Given the description of an element on the screen output the (x, y) to click on. 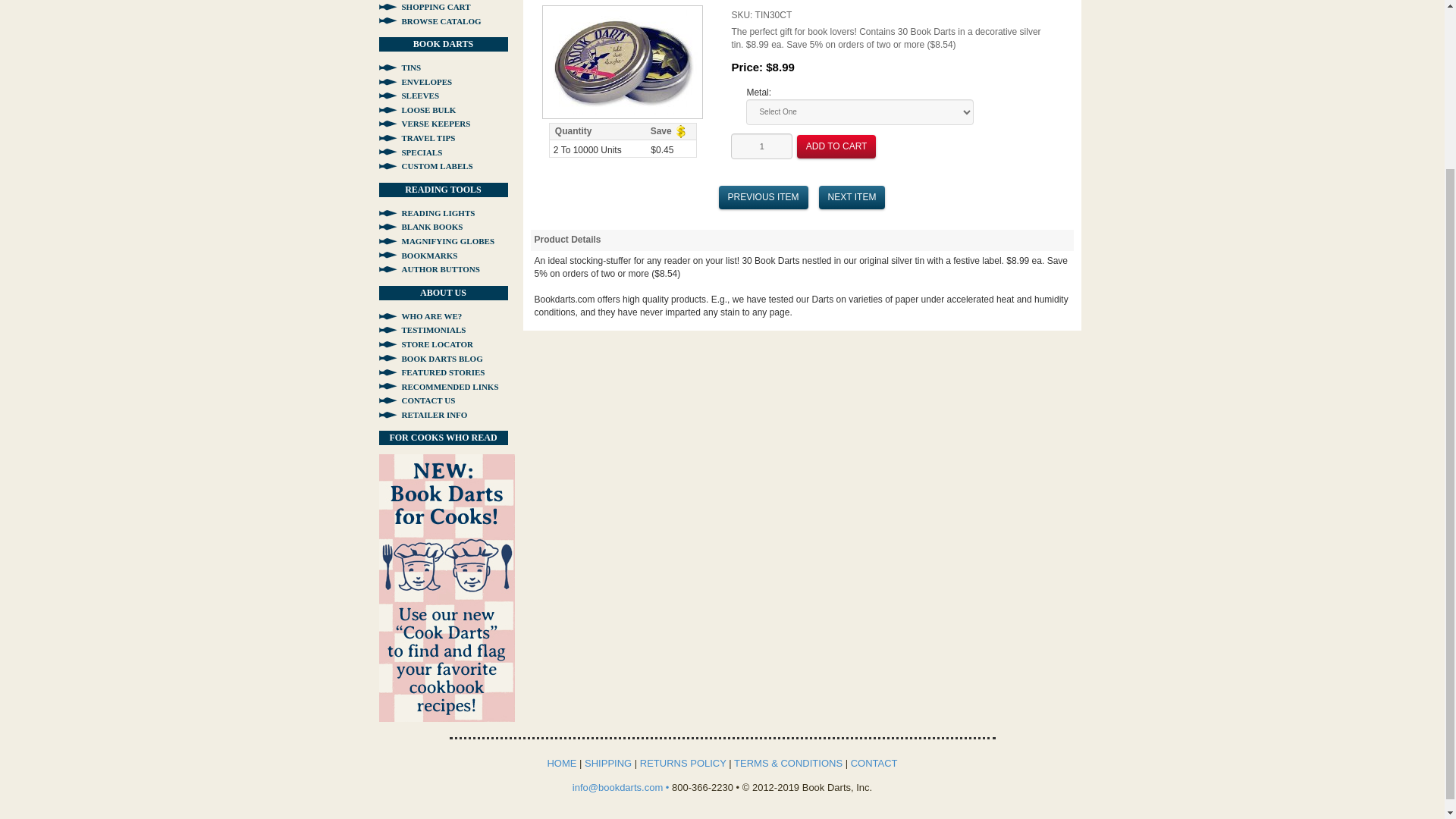
RETURNS POLICY (683, 763)
STORE LOCATOR (425, 343)
AUTHOR BUTTONS (429, 268)
RECOMMENDED LINKS (438, 386)
SHOPPING CART (424, 6)
1 (761, 145)
FEATURED STORIES (431, 371)
BLANK BOOKS (420, 225)
RETAILER INFO (422, 414)
SHIPPING (608, 763)
ENVELOPES (415, 81)
SPECIALS (410, 152)
BOOK DARTS BLOG (430, 358)
WHO ARE WE? (420, 316)
CONTACT (874, 763)
